Given the description of an element on the screen output the (x, y) to click on. 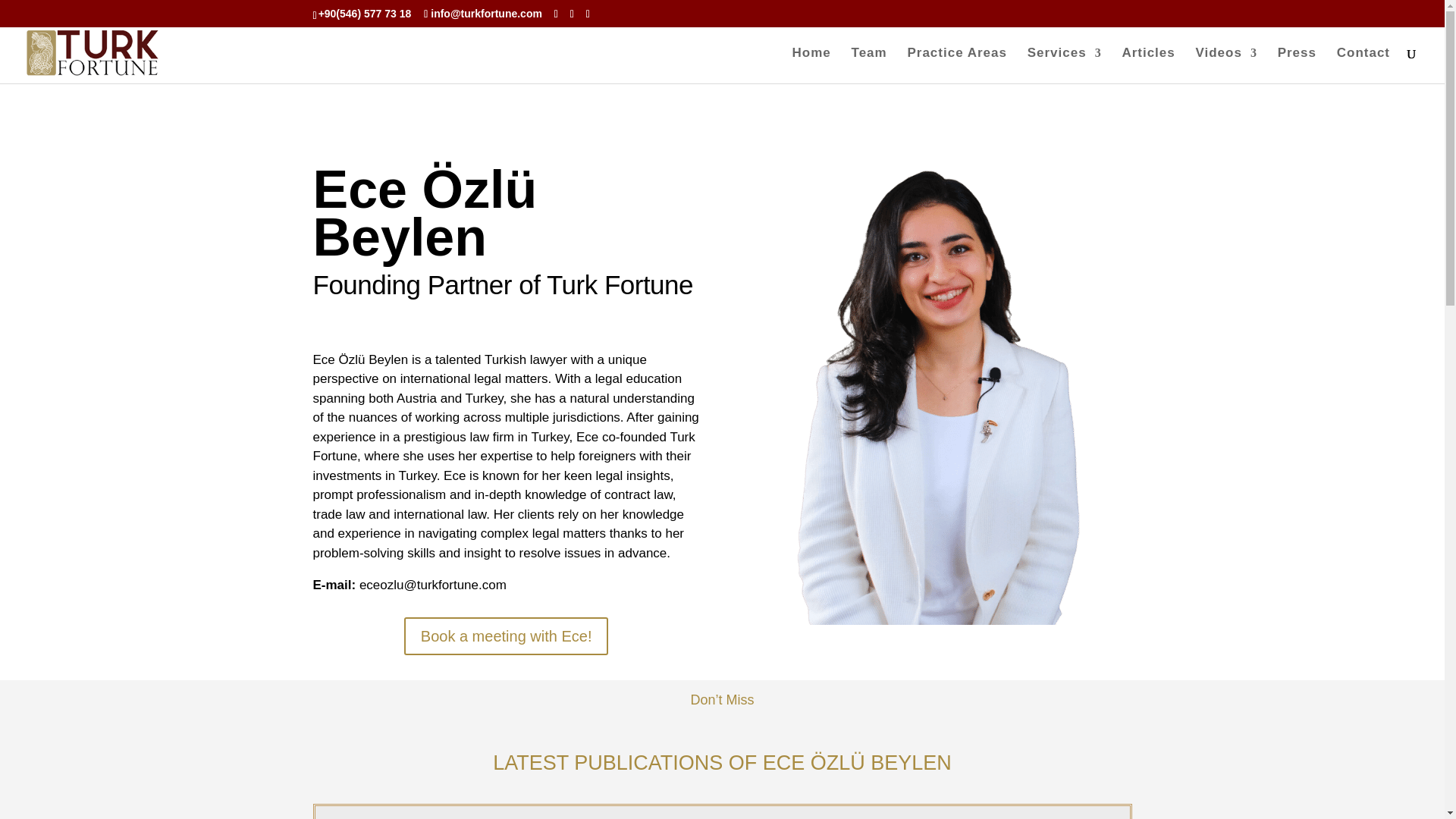
Home (811, 65)
Services (1064, 65)
Book a meeting with Ece! (506, 636)
Contact (1363, 65)
Team (868, 65)
Videos (1225, 65)
Articles (1147, 65)
Practice Areas (957, 65)
Press (1297, 65)
